Given the description of an element on the screen output the (x, y) to click on. 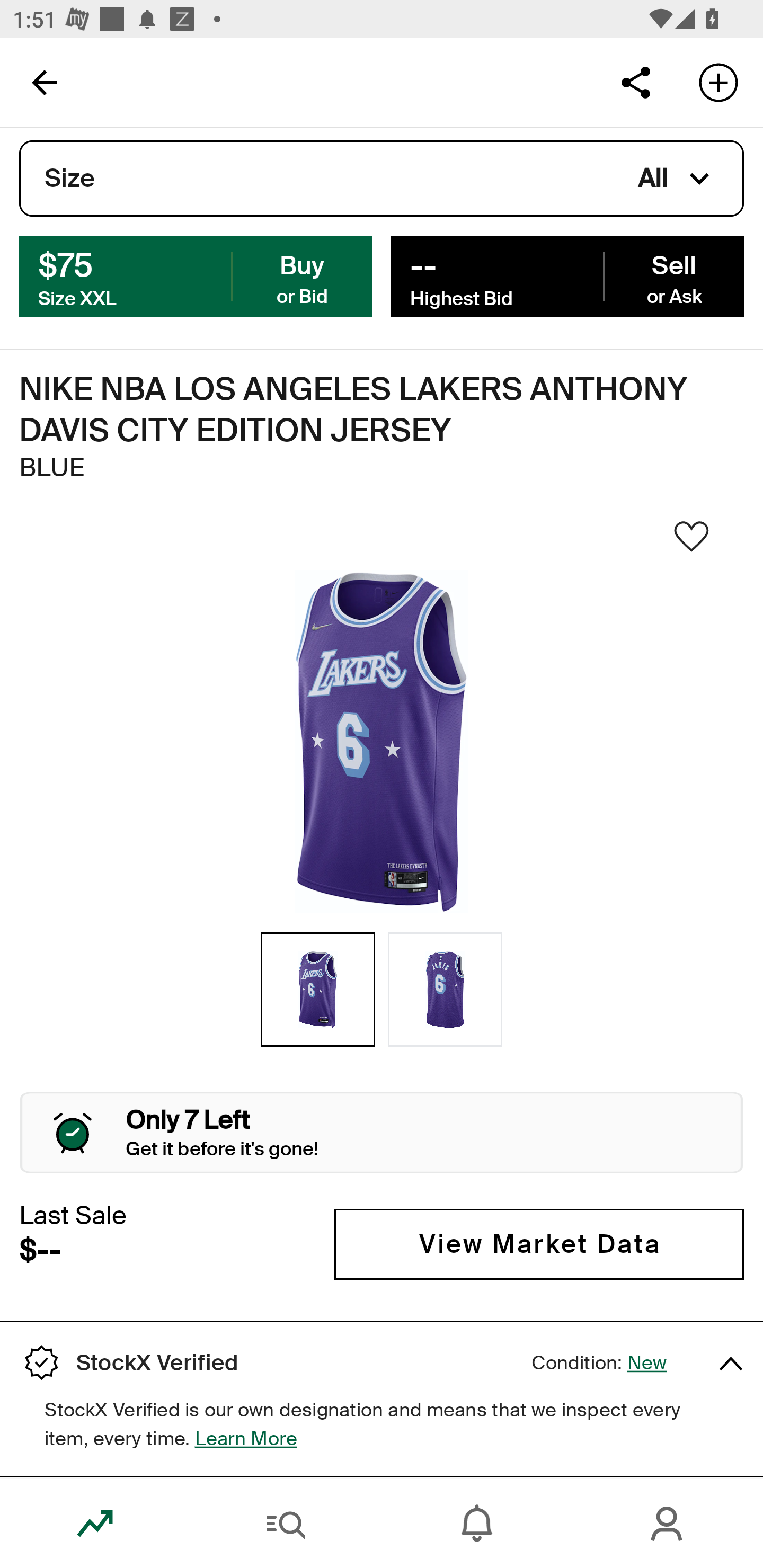
Share (635, 81)
Add (718, 81)
Product Image Trading Cards (748, 222)
Size All (381, 178)
$104 Buy Size S or Bid (195, 275)
$178 Sell Size XS or Ask (566, 275)
Sneaker Image (381, 741)
View Market Data (538, 1243)
Search (285, 1523)
Inbox (476, 1523)
Account (667, 1523)
